Given the description of an element on the screen output the (x, y) to click on. 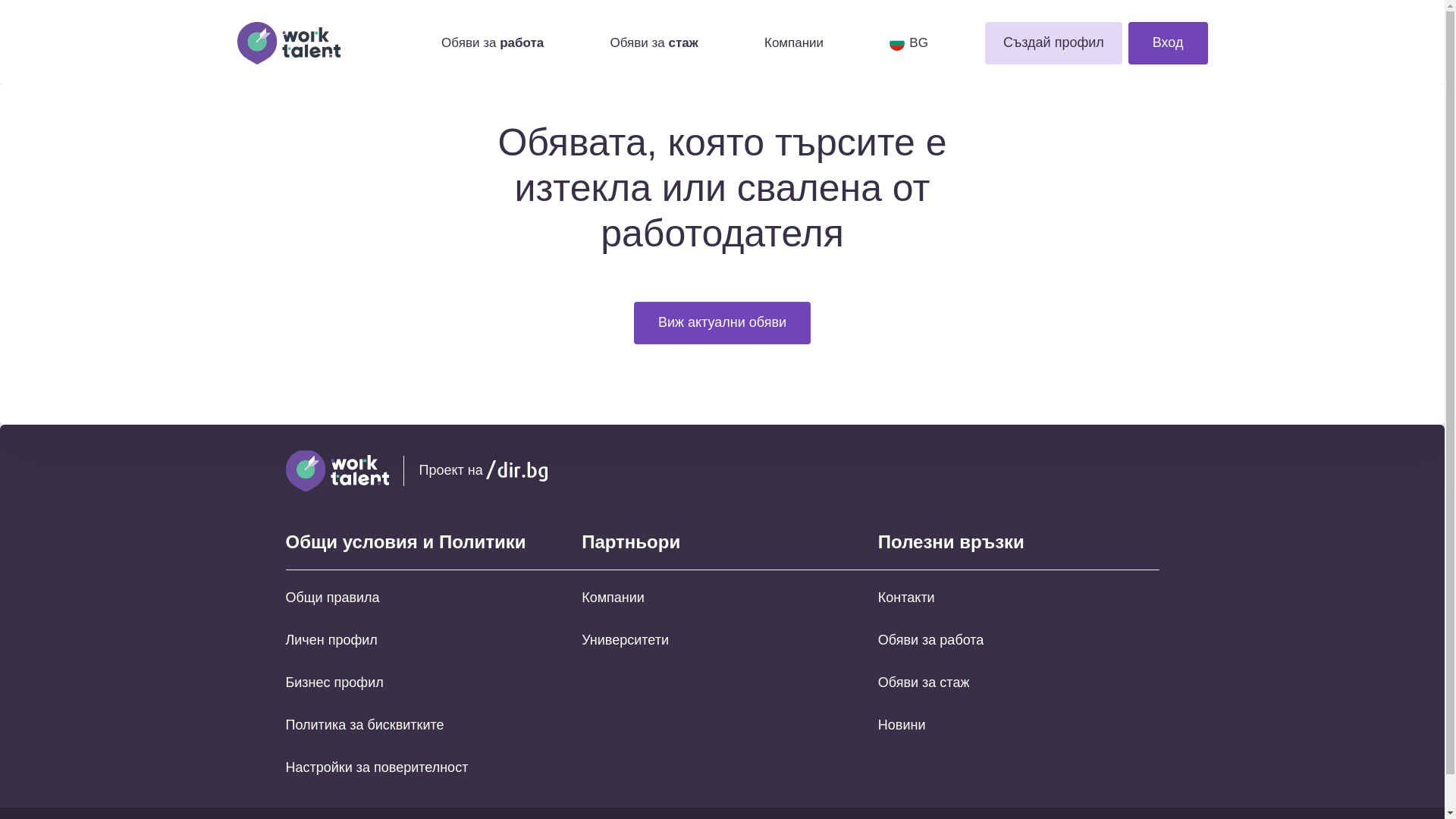
BG (908, 43)
LinkedIn (1146, 470)
Work Talent (336, 470)
Facebook (1091, 470)
dir.bg (516, 470)
Work Talent (310, 43)
